Given the description of an element on the screen output the (x, y) to click on. 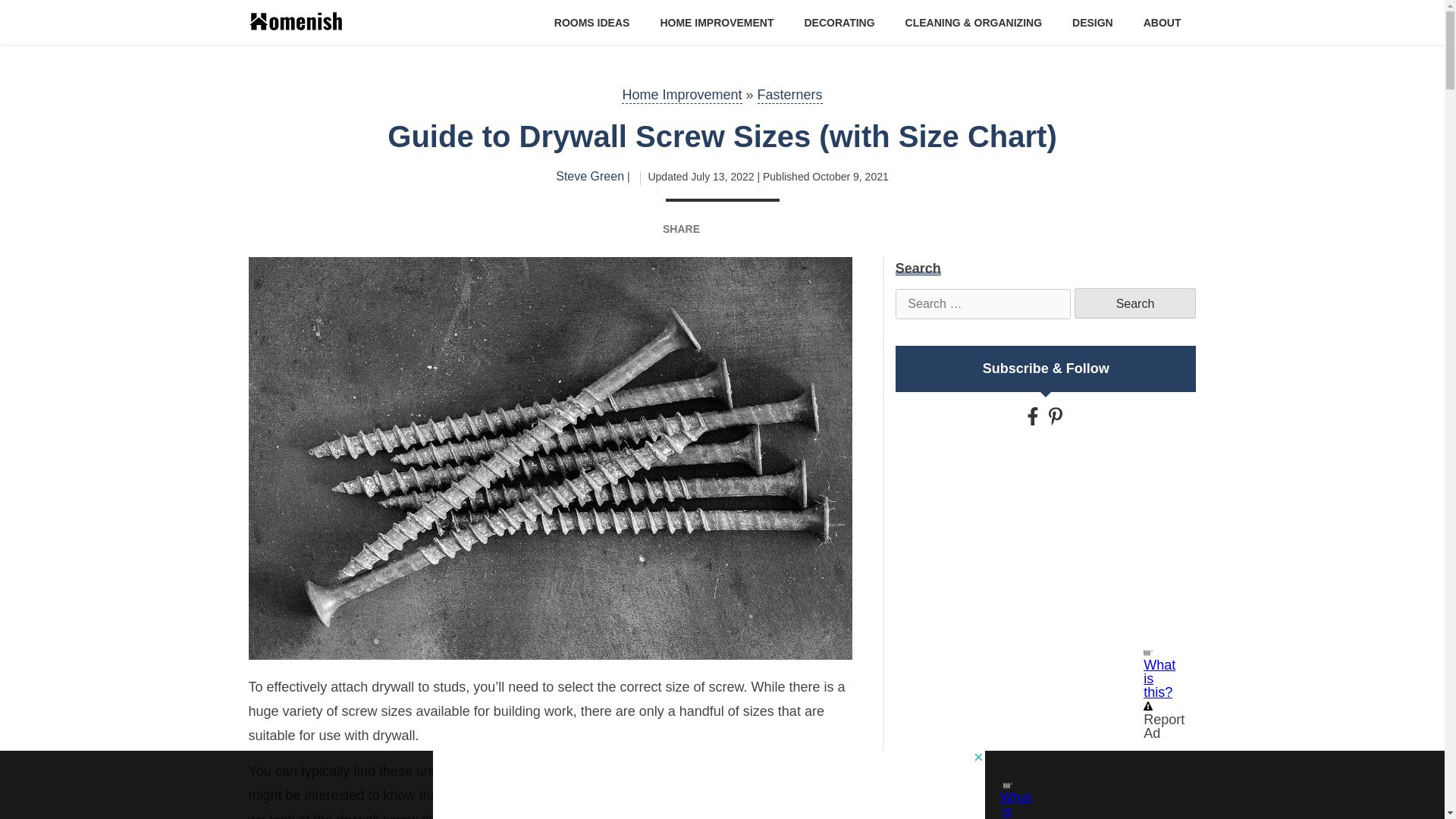
3rd party ad content (708, 785)
ROOMS IDEAS (592, 22)
3rd party ad content (1044, 549)
Search (1134, 303)
HOME IMPROVEMENT (716, 22)
Search (1134, 303)
